Given the description of an element on the screen output the (x, y) to click on. 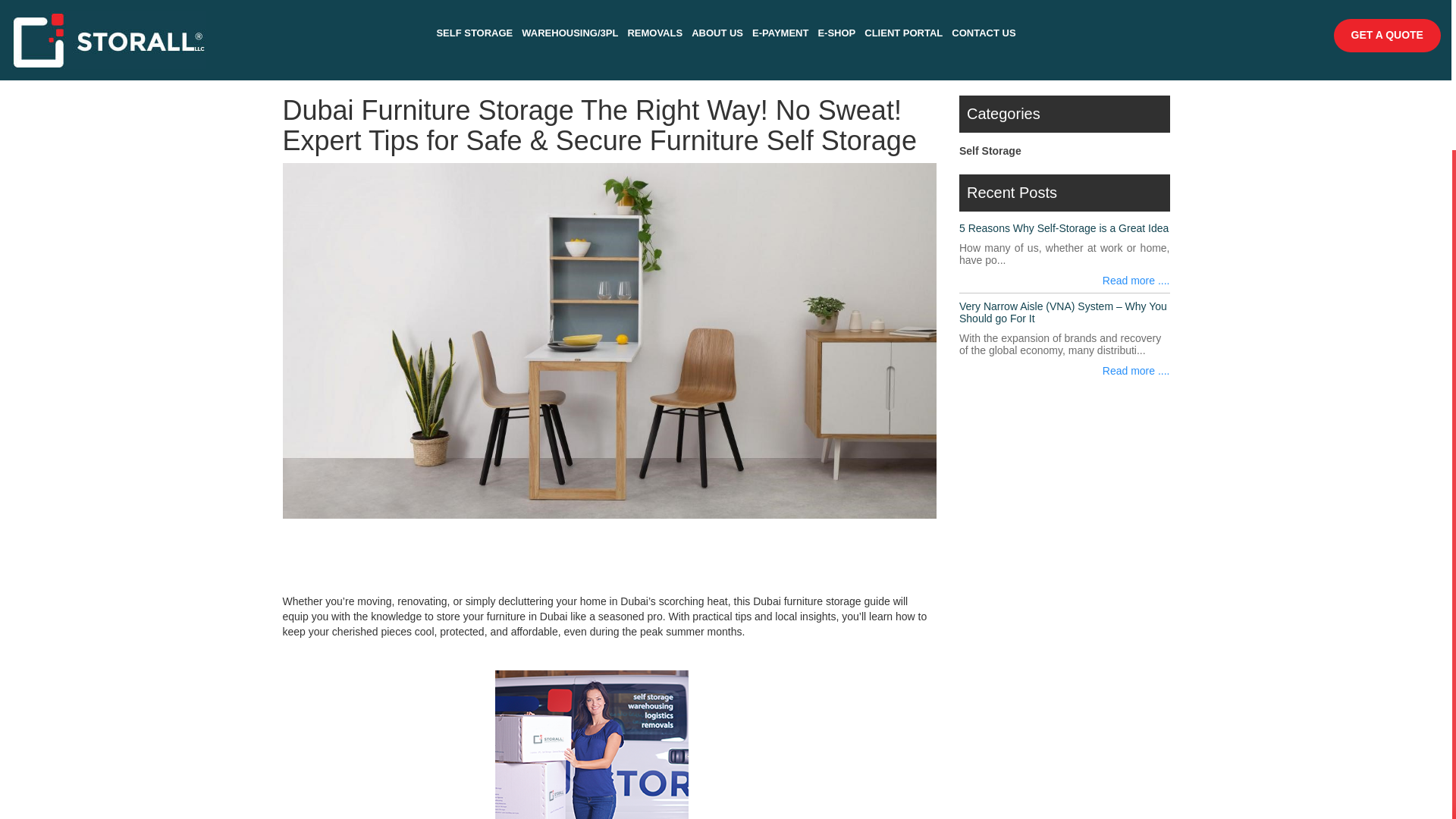
E-PAYMENT (780, 32)
ABOUT US (716, 32)
CLIENT PORTAL (903, 32)
E-SHOP (836, 32)
SELF STORAGE (473, 32)
GET A QUOTE (1387, 35)
CONTACT US (983, 32)
REMOVALS (654, 32)
